Given the description of an element on the screen output the (x, y) to click on. 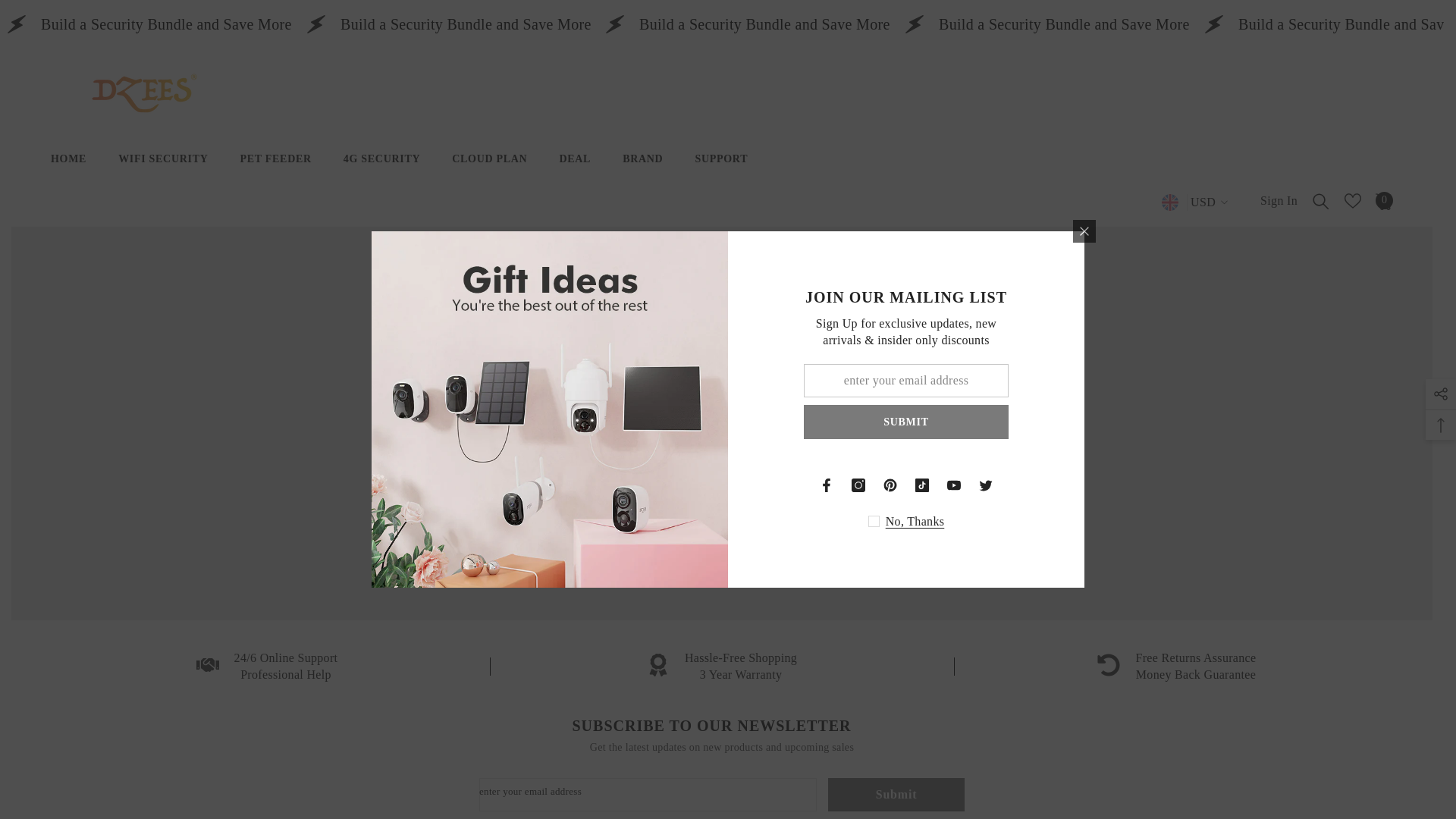
CLOUD PLAN (489, 170)
BRAND (642, 169)
WIFI SECURITY (162, 180)
4G SECURITY (381, 170)
DEAL (575, 169)
PET FEEDER (275, 170)
HOME (67, 182)
